Given the description of an element on the screen output the (x, y) to click on. 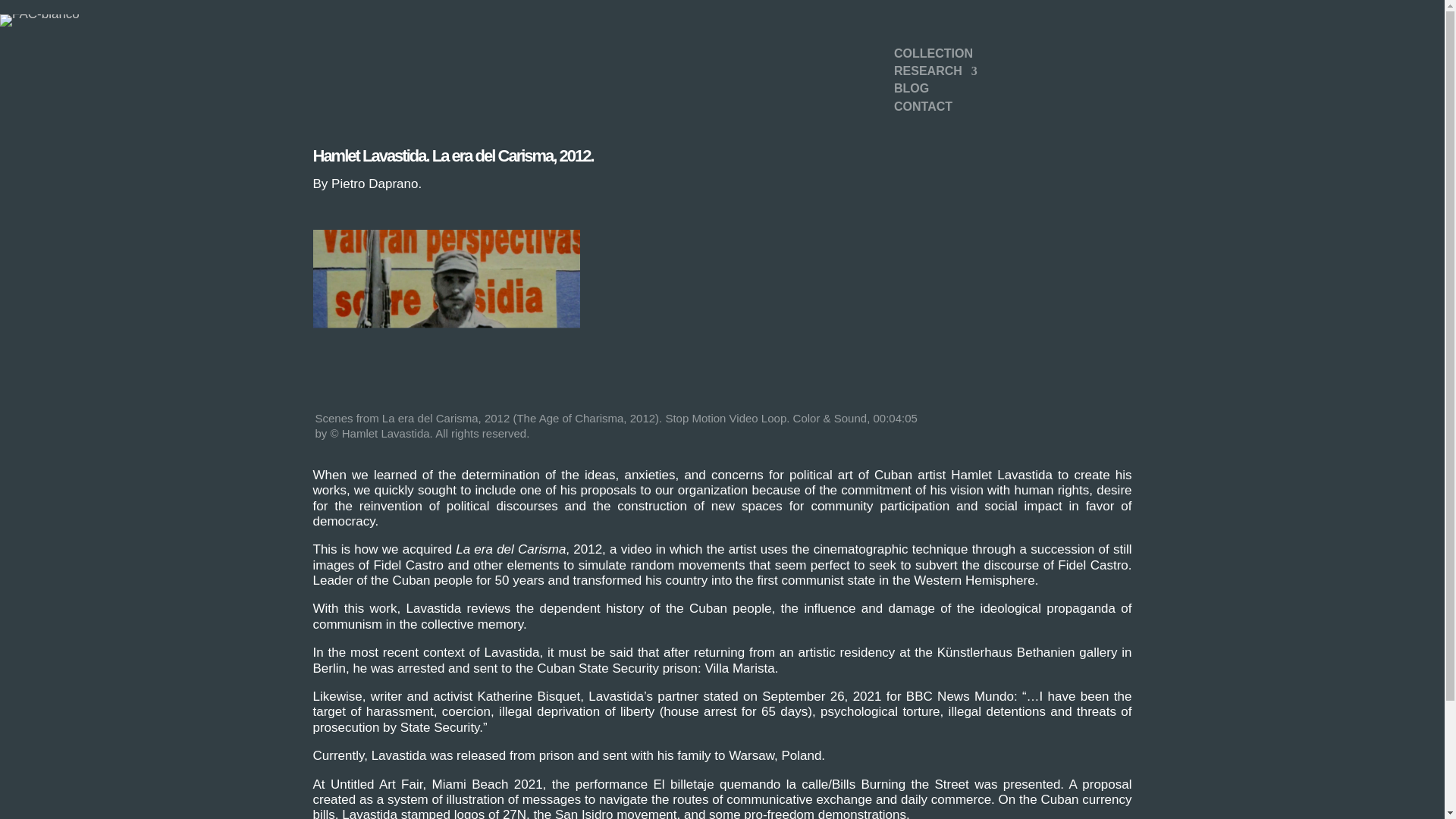
COLLECTION (932, 56)
BLOG (910, 91)
CONTACT (922, 109)
RESEARCH (934, 73)
